Given the description of an element on the screen output the (x, y) to click on. 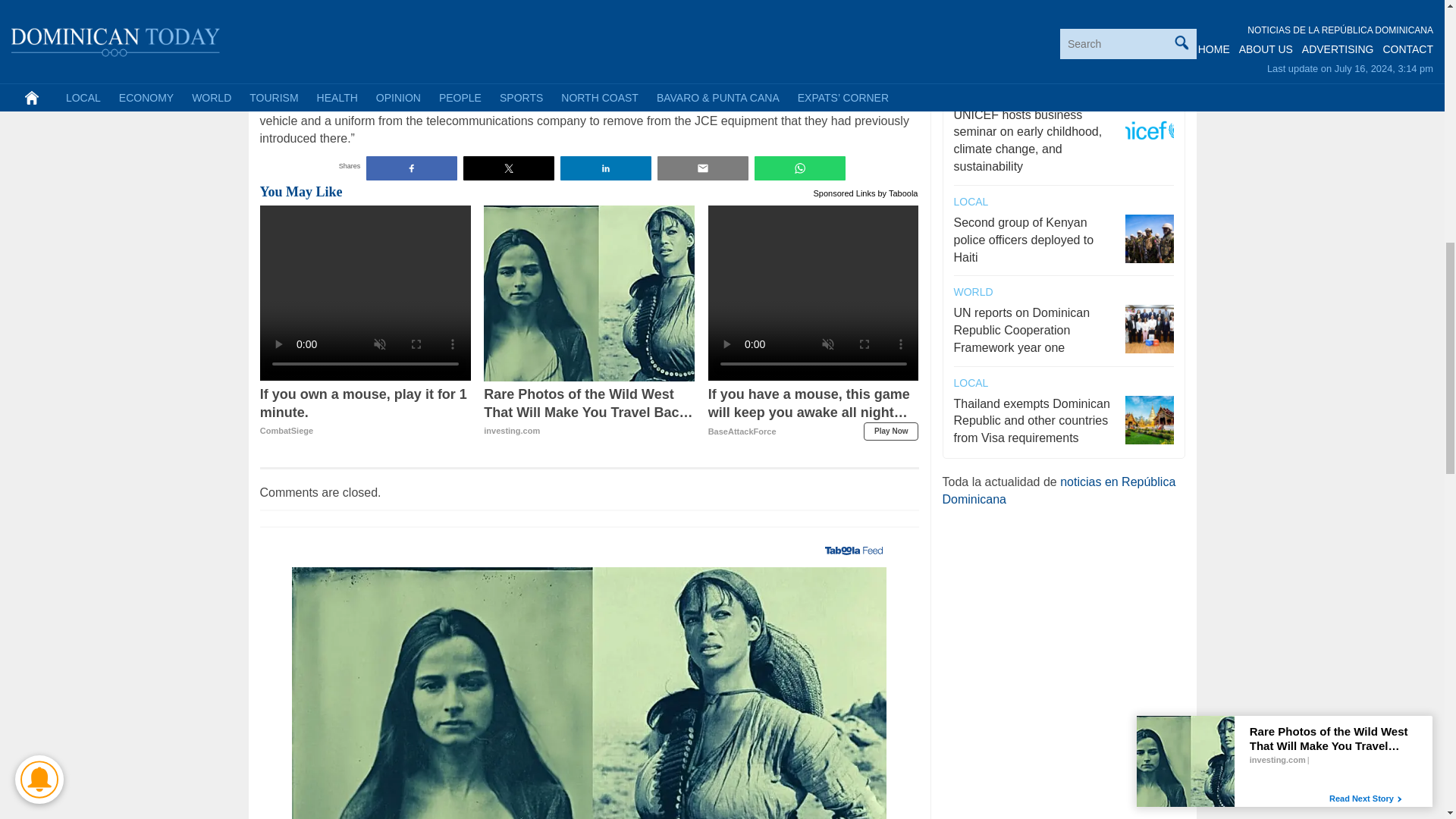
by Taboola (897, 191)
Sponsored Links (844, 191)
Play Now (890, 431)
If you own a mouse, play it for 1 minute. (365, 411)
